Given the description of an element on the screen output the (x, y) to click on. 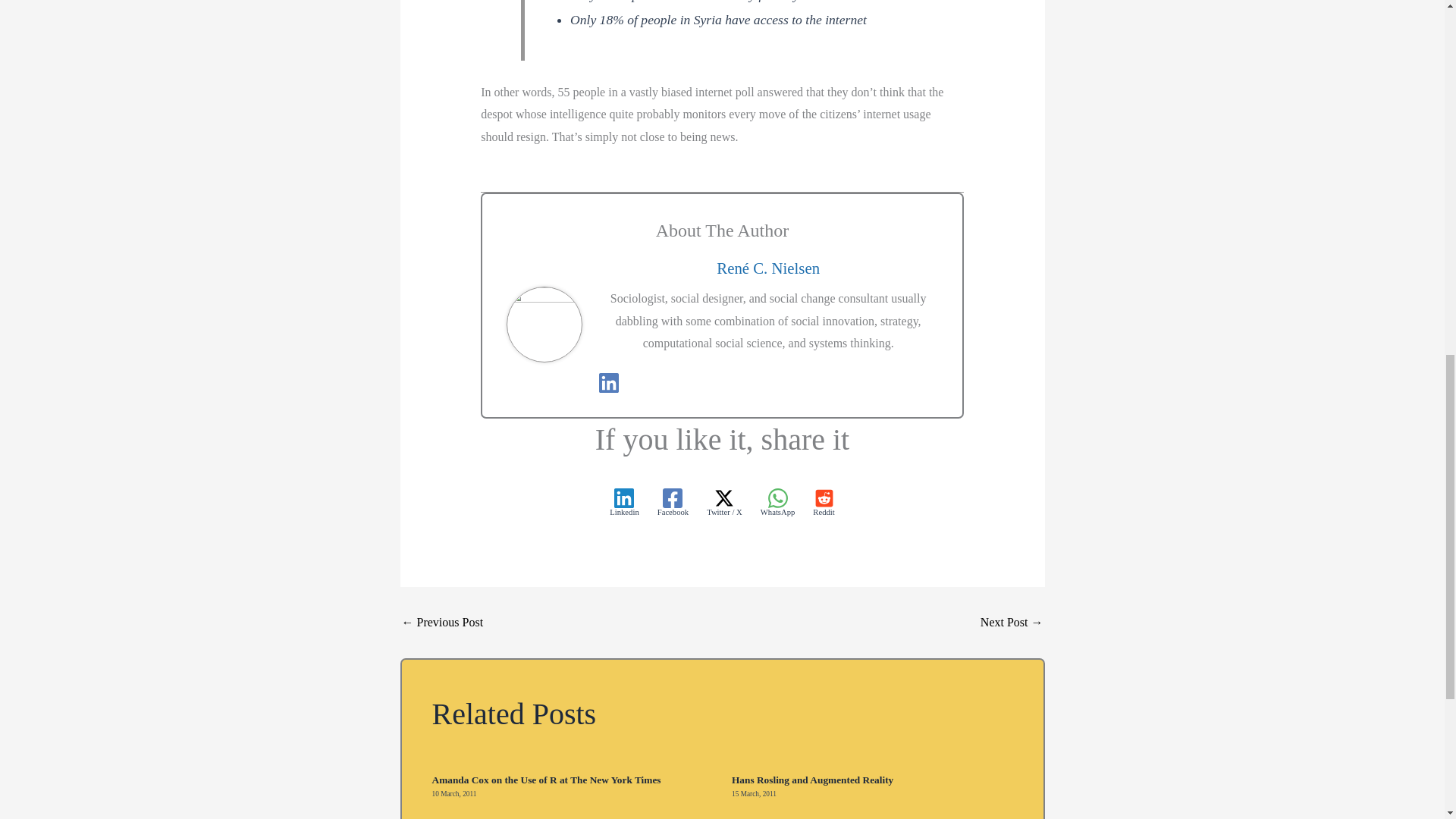
WhatsApp (777, 502)
Linkedin (624, 502)
Amanda Cox on the Use of R at The New York Times (546, 779)
Paul Conneally: Digital humanitarianism (442, 622)
Hans Rosling and Augmented Reality (812, 779)
Facebook (673, 502)
Jer Thorp on Data ... and a little history (1011, 622)
